Given the description of an element on the screen output the (x, y) to click on. 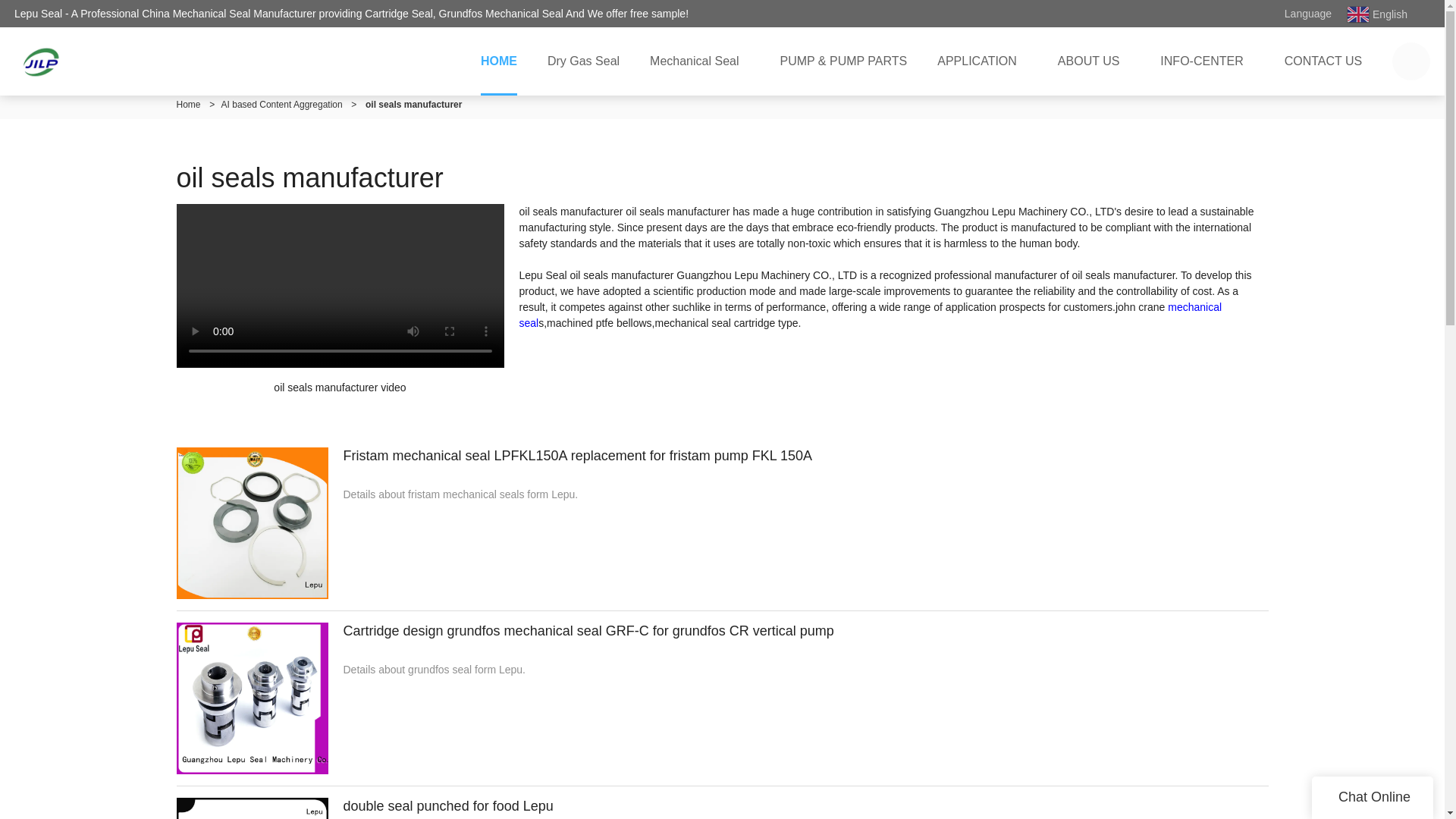
Mechanical Seal (699, 61)
Dry Gas Seal (583, 61)
HOME (498, 61)
APPLICATION (981, 61)
